Given the description of an element on the screen output the (x, y) to click on. 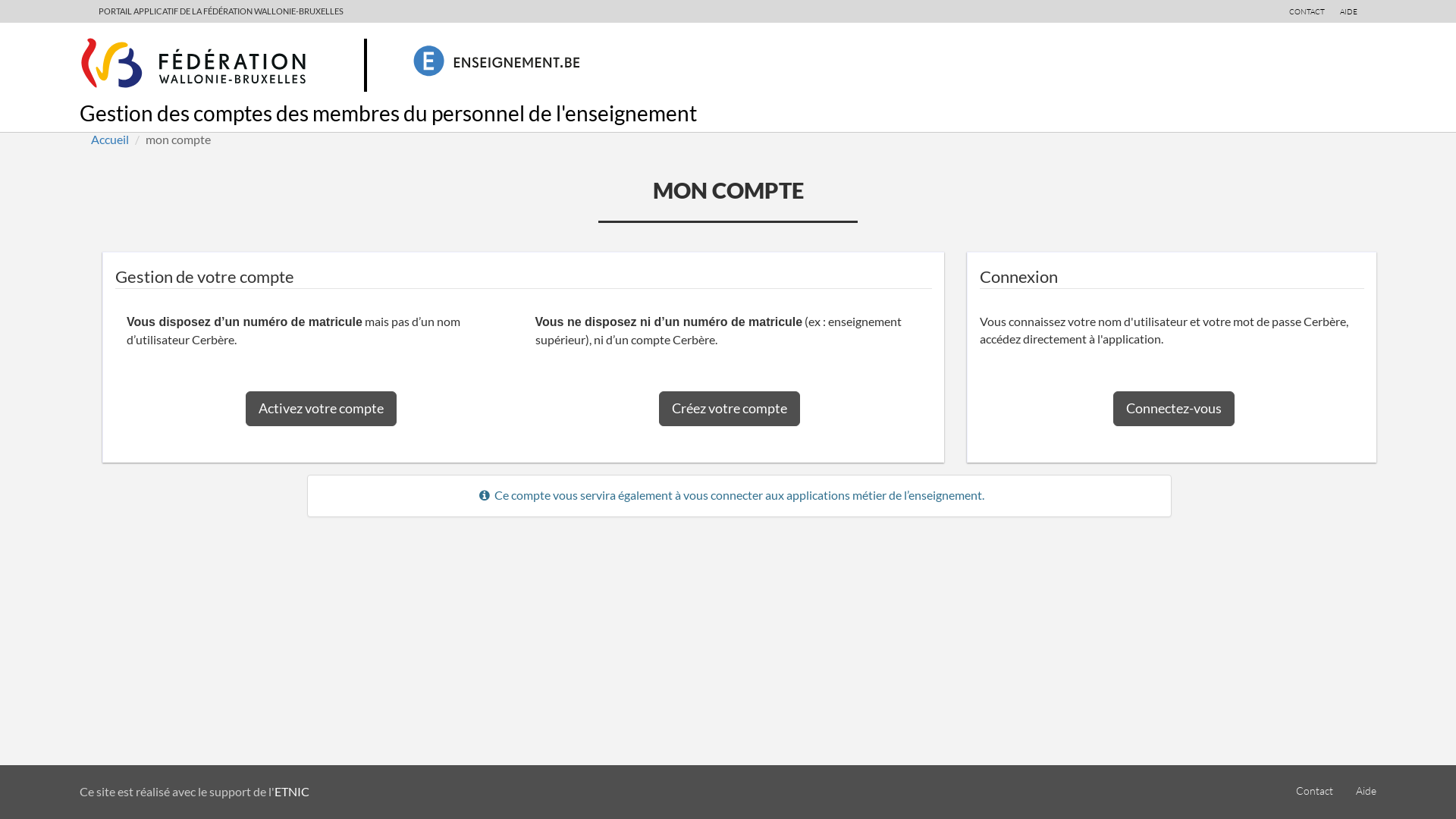
Aide Element type: text (1365, 790)
Connectez-vous Element type: text (1173, 408)
ETNIC Element type: text (291, 791)
CONTACT Element type: text (1306, 11)
Activez votre compte Element type: text (320, 408)
Contact Element type: text (1314, 790)
Enseignement.be Element type: text (517, 63)
Accueil Element type: text (109, 138)
AIDE Element type: text (1348, 11)
